Given the description of an element on the screen output the (x, y) to click on. 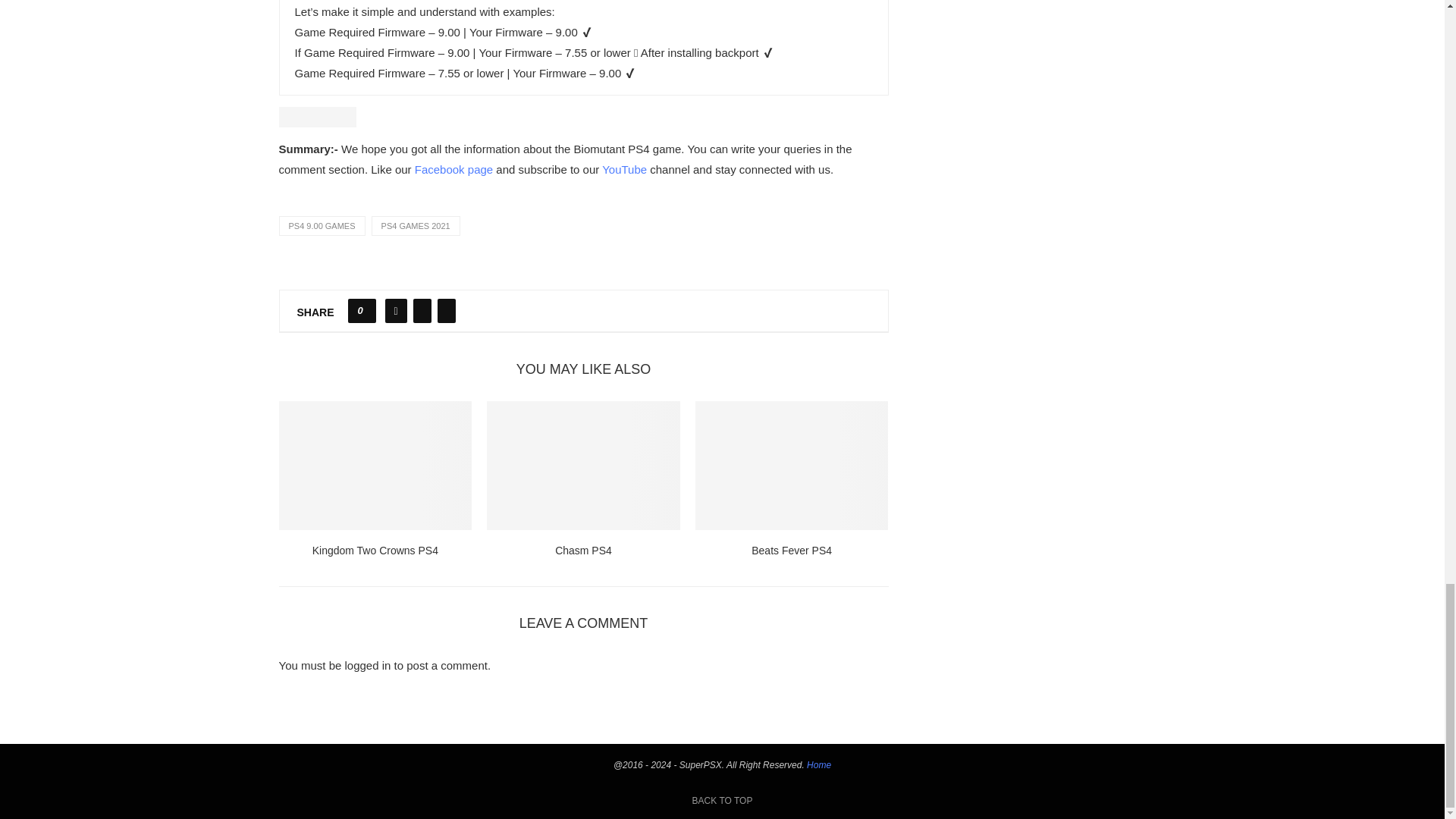
Kingdom Two Crowns PS4 (375, 465)
Chasm PS4 (582, 465)
Beats Fever PS4 (791, 465)
PS4 GAMES 2021 (415, 225)
Facebook page (453, 169)
PS4 9.00 GAMES (322, 225)
YouTube  (625, 169)
